Given the description of an element on the screen output the (x, y) to click on. 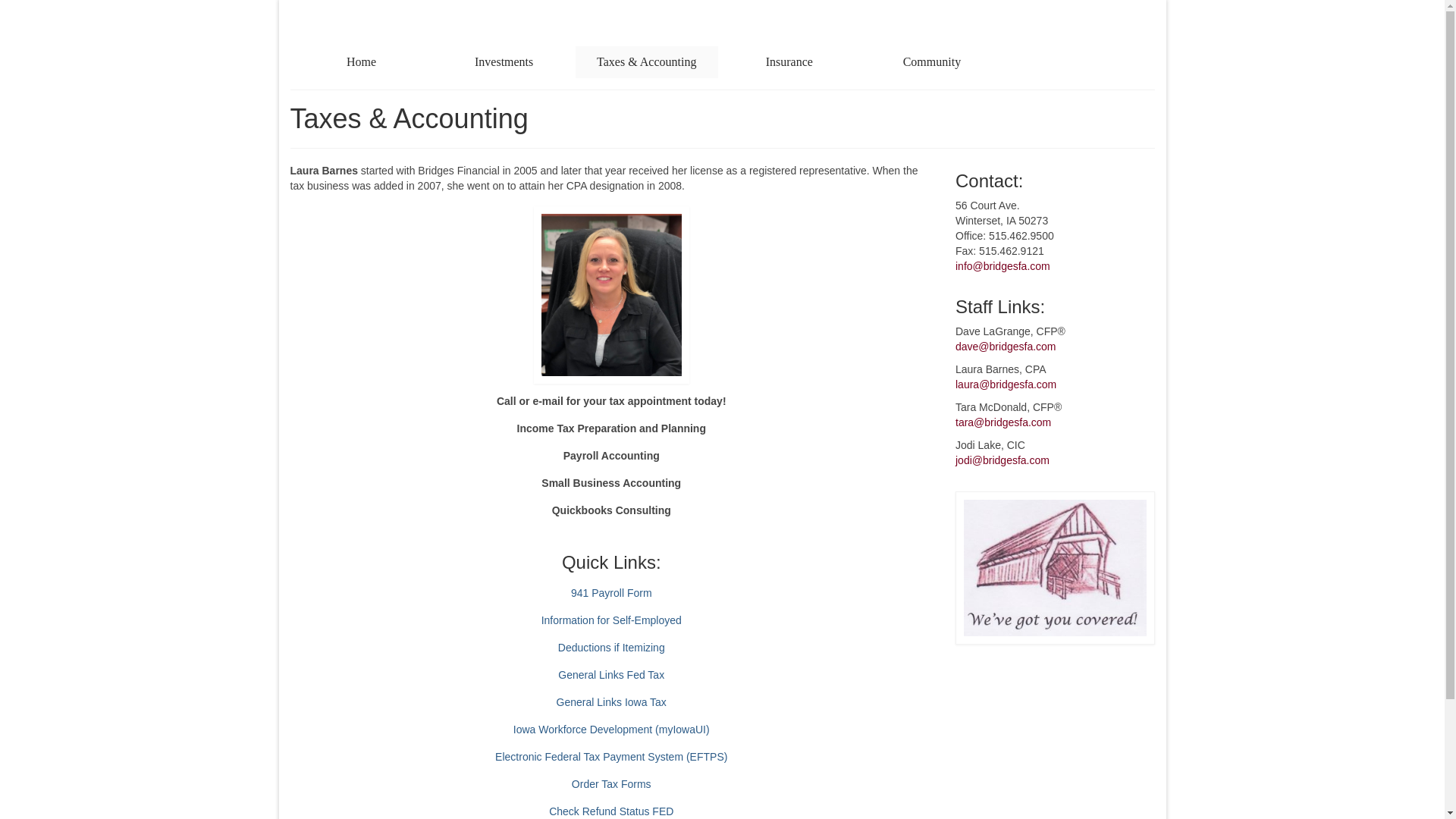
General Links Iowa Tax (611, 702)
Home (360, 61)
Order Tax Forms (611, 784)
Community (931, 61)
Bridges Financial, Inc. (724, 22)
Information for Self-Employed (611, 620)
Insurance (788, 61)
Investments (503, 61)
941 Payroll Form (611, 592)
Deductions if Itemizing (611, 647)
Check Refund Status FED (610, 811)
Bridges Financial, Inc. (724, 22)
General Links Fed Tax (610, 674)
